Given the description of an element on the screen output the (x, y) to click on. 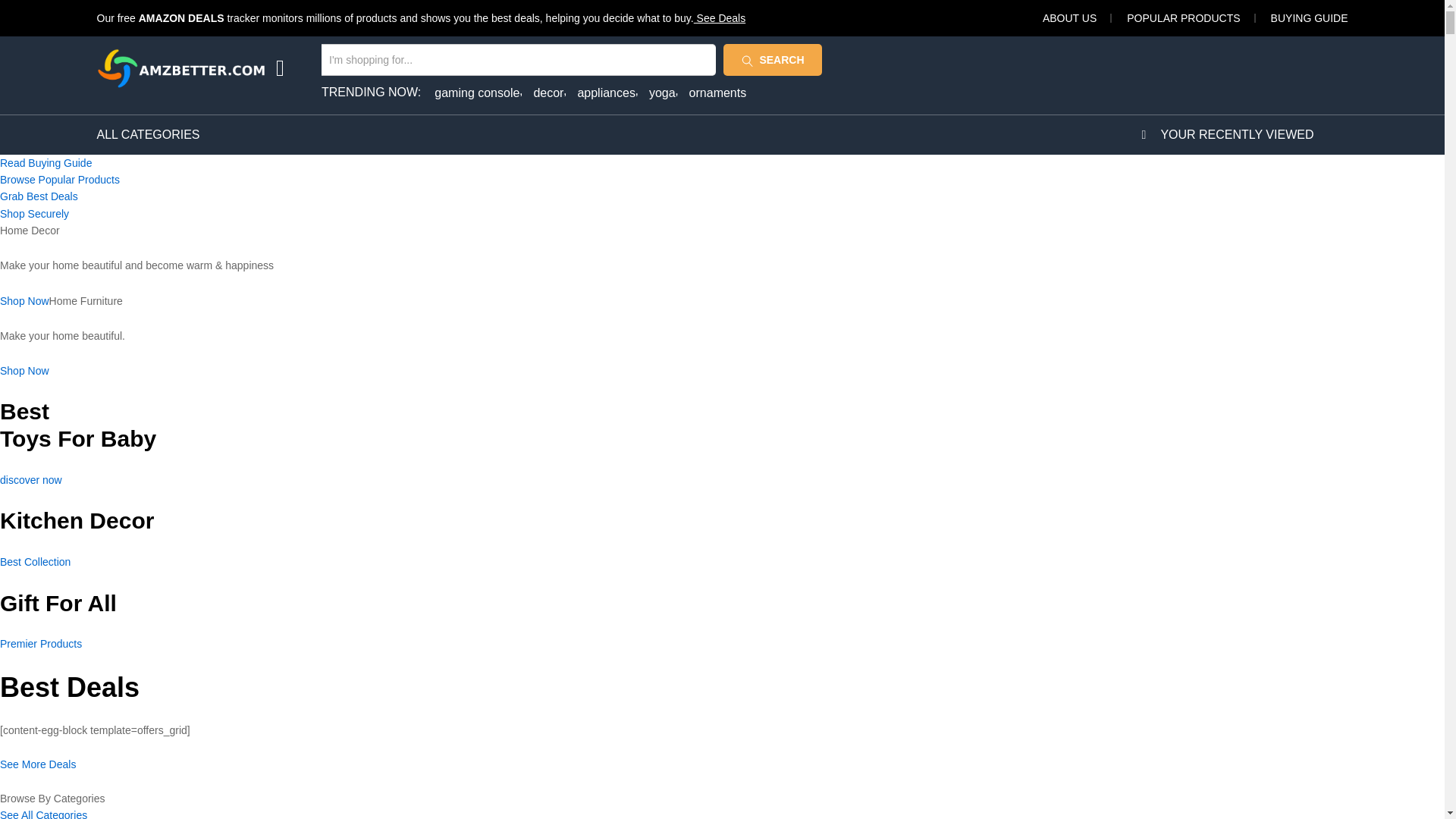
ALL CATEGORIES (148, 134)
BUYING GUIDE (1309, 18)
Read Buying Guide (45, 162)
POPULAR PRODUCTS (1183, 18)
Shop Now (24, 300)
yoga (663, 92)
Shop Now (24, 370)
Best Collection (34, 562)
ABOUT US (1069, 18)
SEARCH (772, 60)
See All Categories (43, 814)
See Deals (719, 18)
gaming console (477, 92)
Browse Popular Products (59, 179)
Grab Best Deals (39, 196)
